Given the description of an element on the screen output the (x, y) to click on. 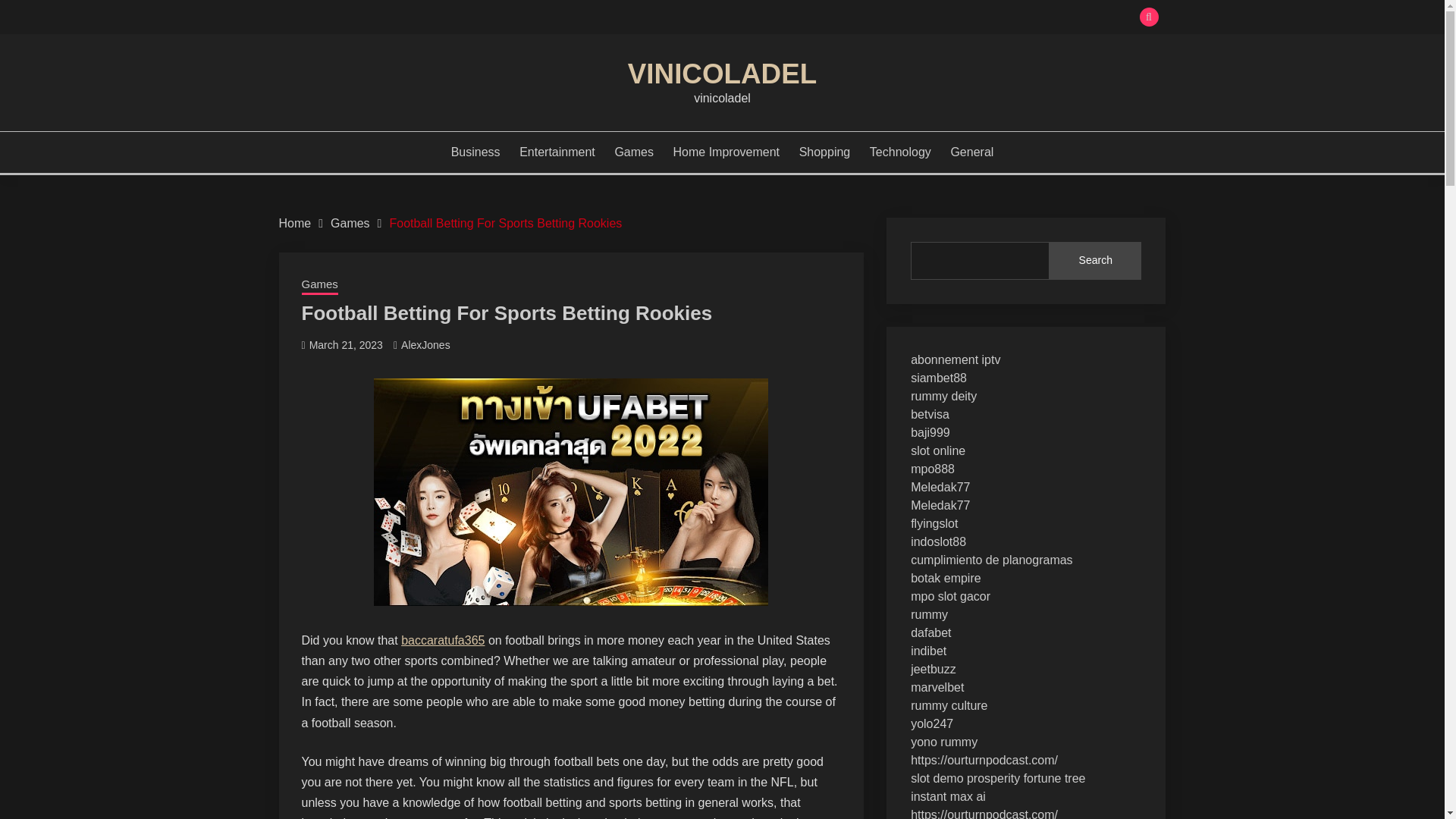
Business (475, 152)
Games (319, 285)
Games (349, 223)
Football Betting For Sports Betting Rookies (504, 223)
Games (633, 152)
Search (1095, 260)
Home Improvement (726, 152)
March 21, 2023 (345, 345)
Shopping (824, 152)
abonnement iptv (955, 359)
